Given the description of an element on the screen output the (x, y) to click on. 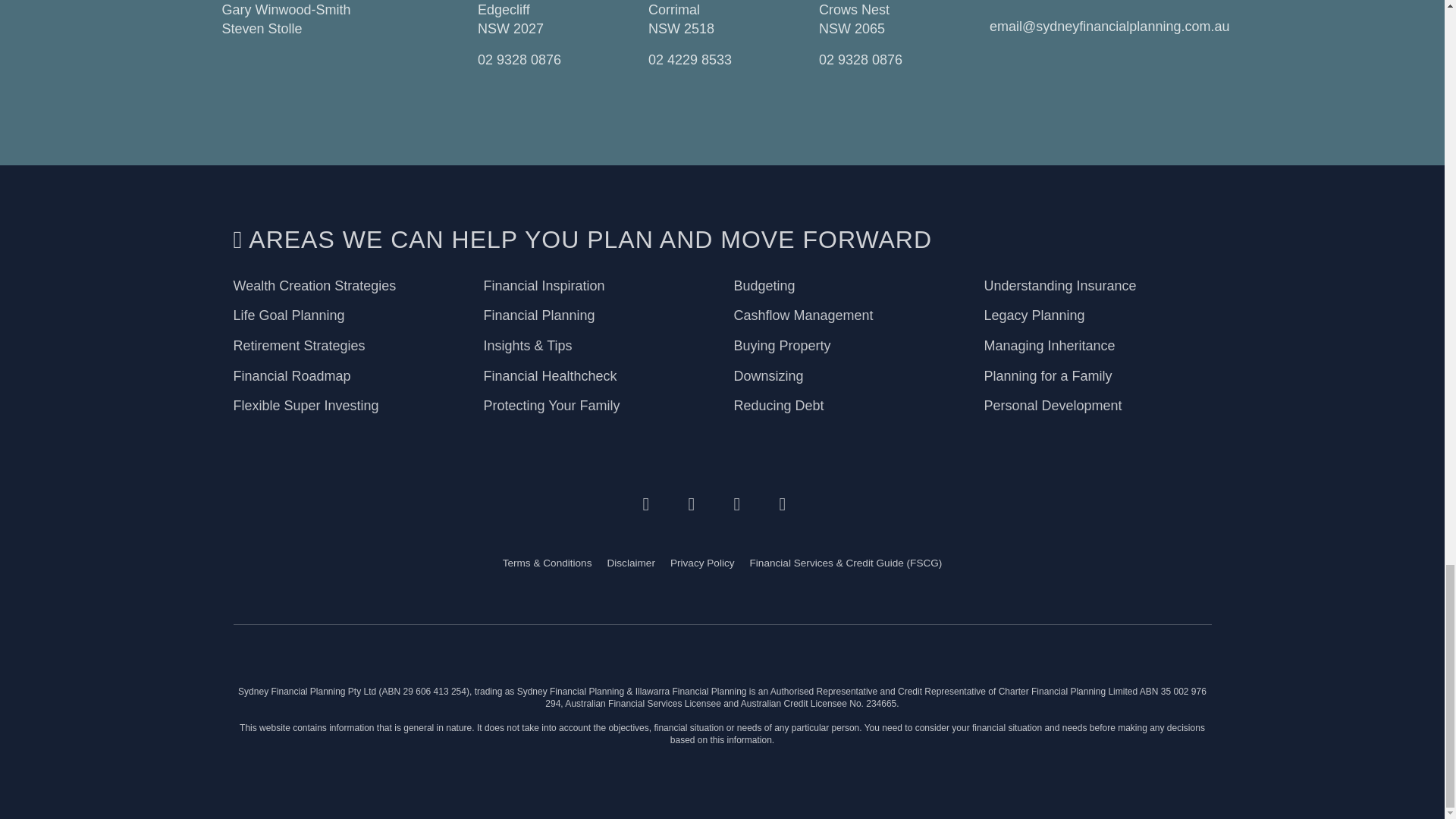
linkedin (744, 501)
facebook (699, 501)
twitter (653, 501)
